Given the description of an element on the screen output the (x, y) to click on. 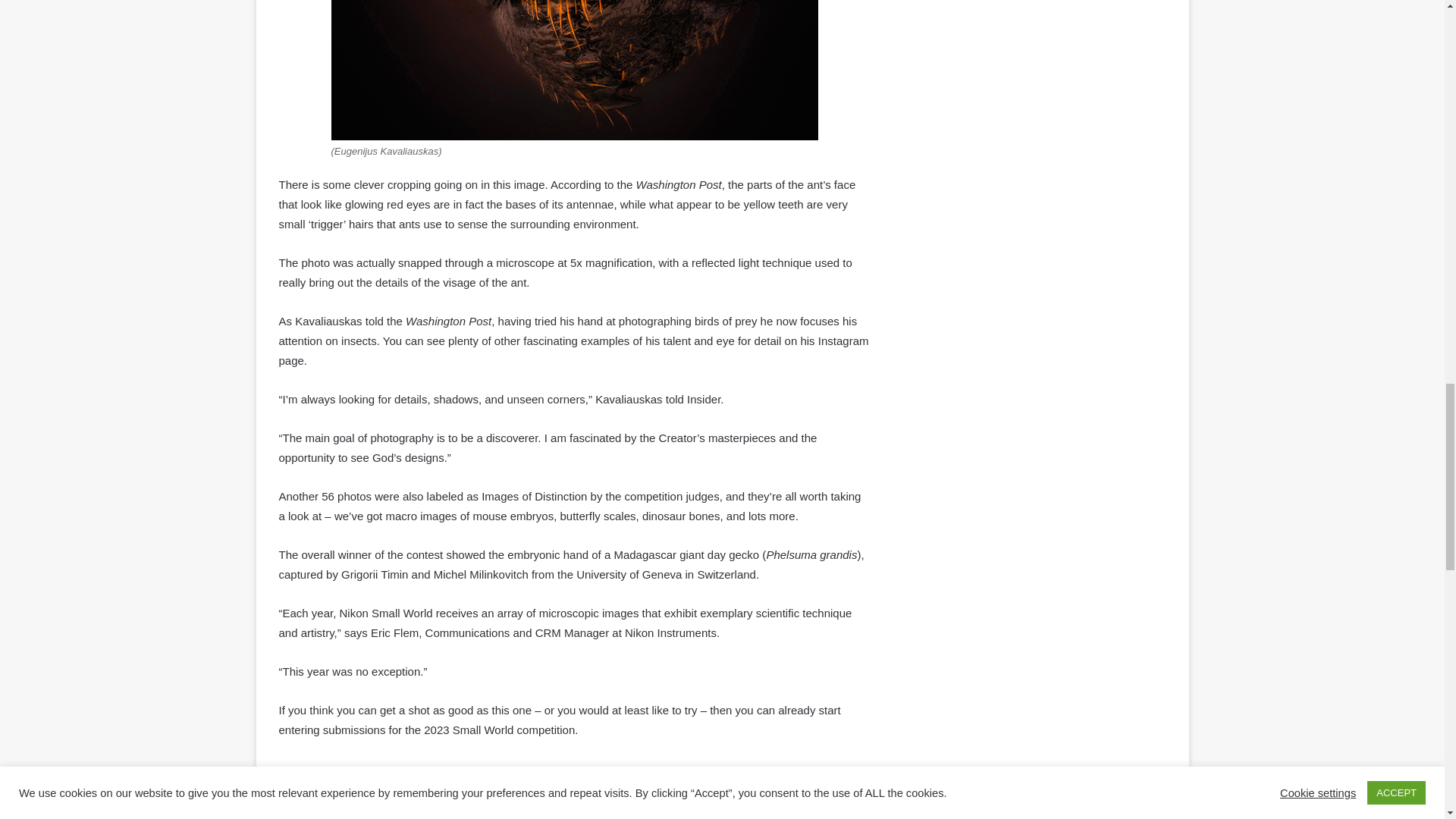
Ants (355, 780)
Incredible (495, 780)
Nightmare (591, 780)
face (417, 780)
ScienceAlert (766, 780)
photo (675, 780)
